Given the description of an element on the screen output the (x, y) to click on. 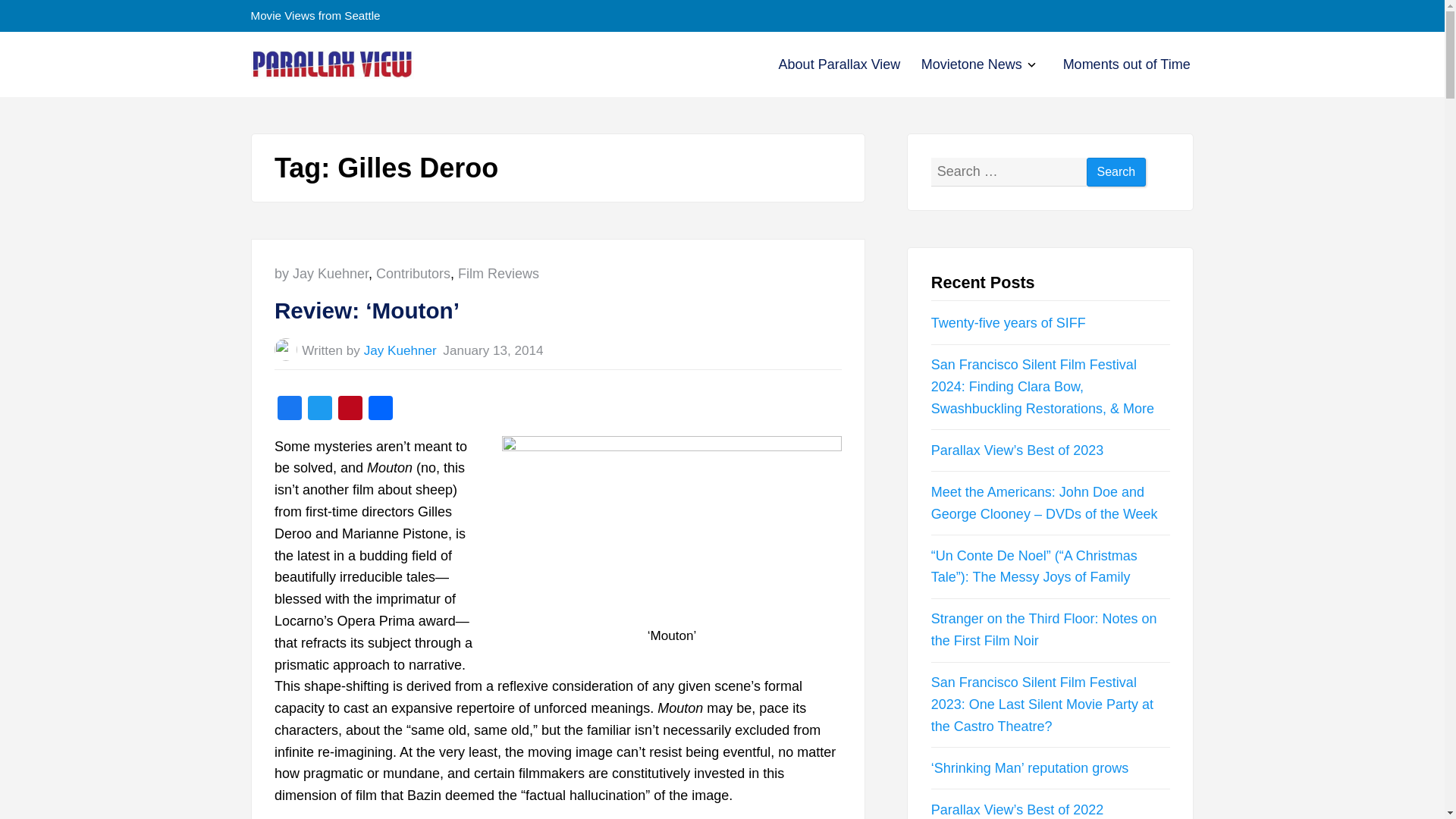
Search (1115, 172)
Facebook (289, 409)
Contributors (412, 273)
January 13, 2014 (492, 350)
Search (1115, 172)
Jay Kuehner (400, 350)
Moments out of Time (1126, 64)
Twitter (319, 409)
Twitter (319, 409)
Pinterest (349, 409)
Twenty-five years of SIFF (1008, 322)
Moments out of Time (1126, 64)
Film Reviews (498, 273)
Movietone News (971, 64)
